Given the description of an element on the screen output the (x, y) to click on. 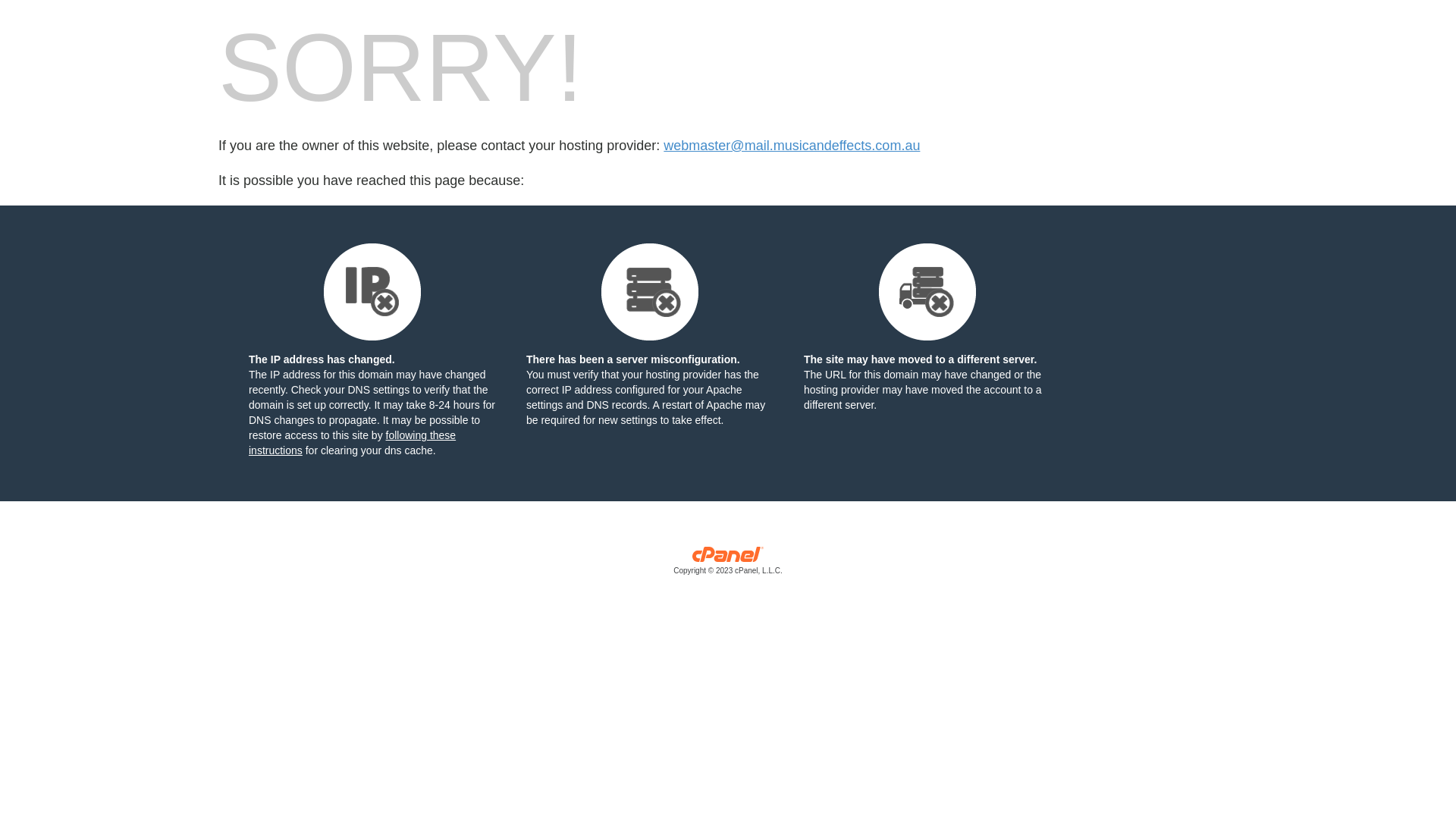
webmaster@mail.musicandeffects.com.au Element type: text (791, 145)
following these instructions Element type: text (351, 442)
